Given the description of an element on the screen output the (x, y) to click on. 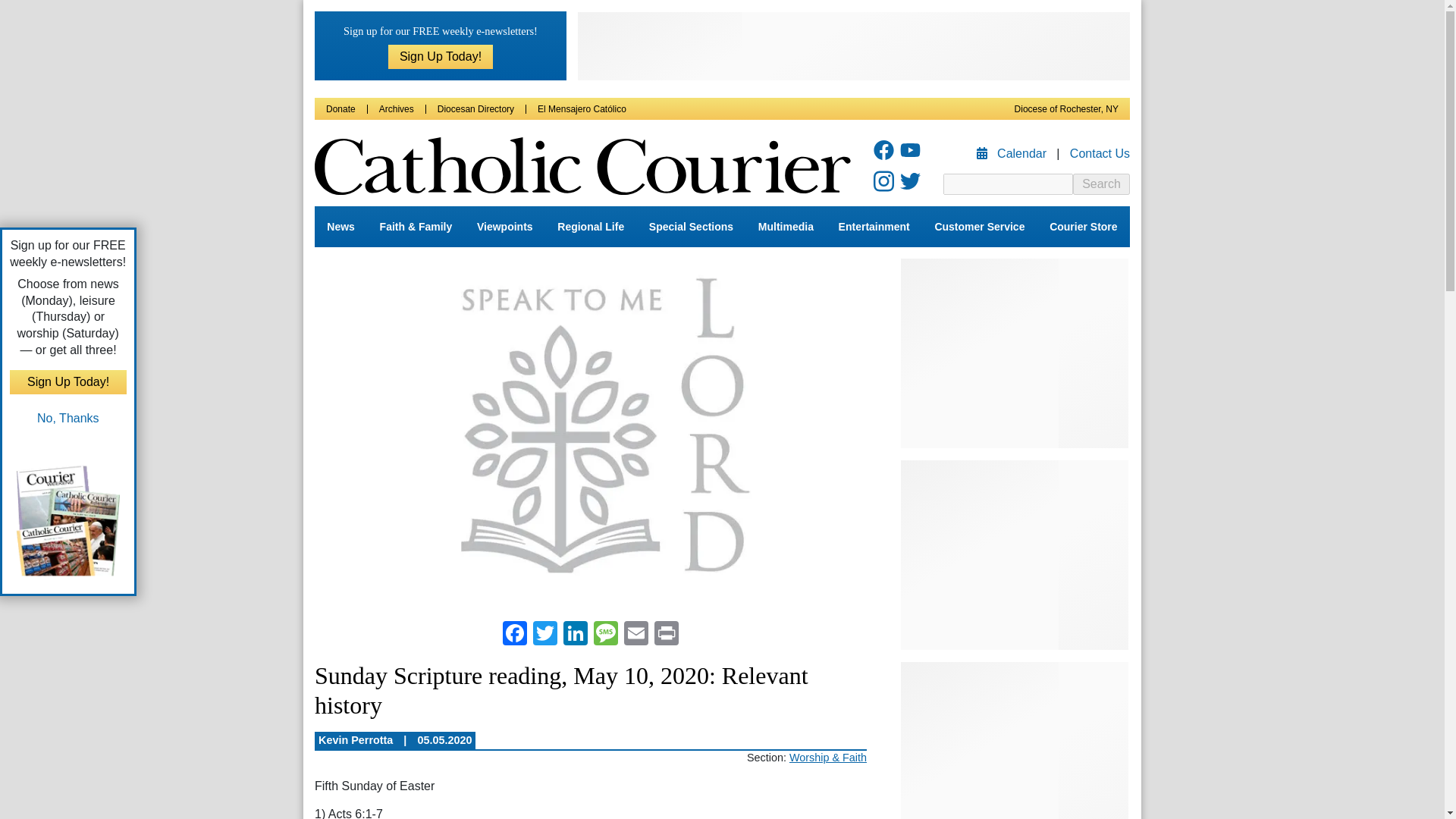
Search (1101, 183)
Regional Life (590, 226)
  Calendar (1012, 153)
Diocese of Rochester, NY (1066, 108)
Diocesan Directory (475, 108)
Contact Us (1099, 153)
Search (1101, 183)
Special Sections (691, 226)
Twitter (544, 634)
Sunday Scripture reading, May 10, 2020: Relevant history (590, 432)
Print (665, 634)
Archives (395, 108)
Search (1101, 183)
Viewpoints (504, 226)
Email (635, 634)
